Given the description of an element on the screen output the (x, y) to click on. 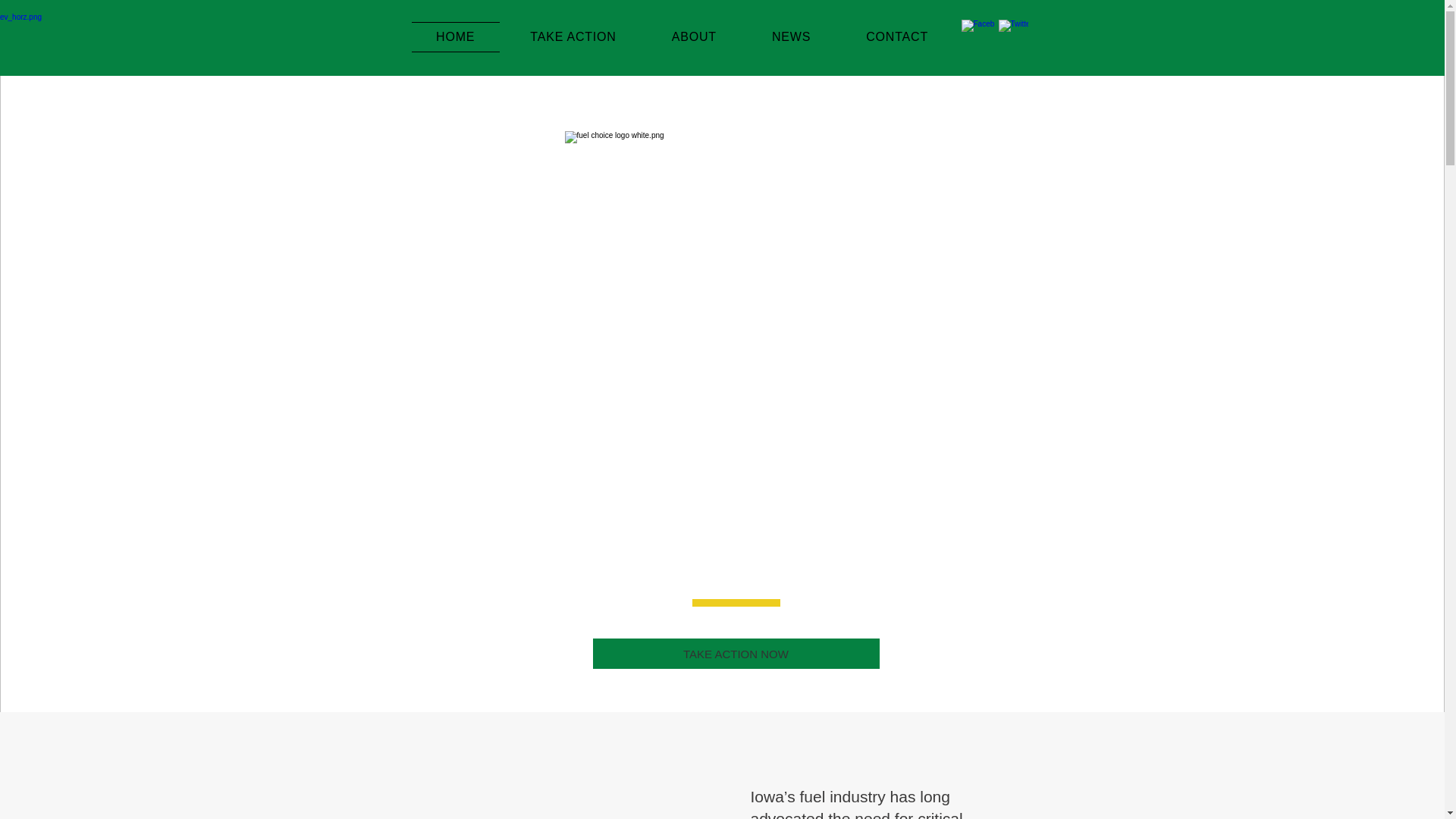
HOME (454, 37)
TAKE ACTION NOW (735, 653)
CONTACT (897, 37)
NEWS (790, 37)
TAKE ACTION (572, 37)
ABOUT (693, 37)
